Given the description of an element on the screen output the (x, y) to click on. 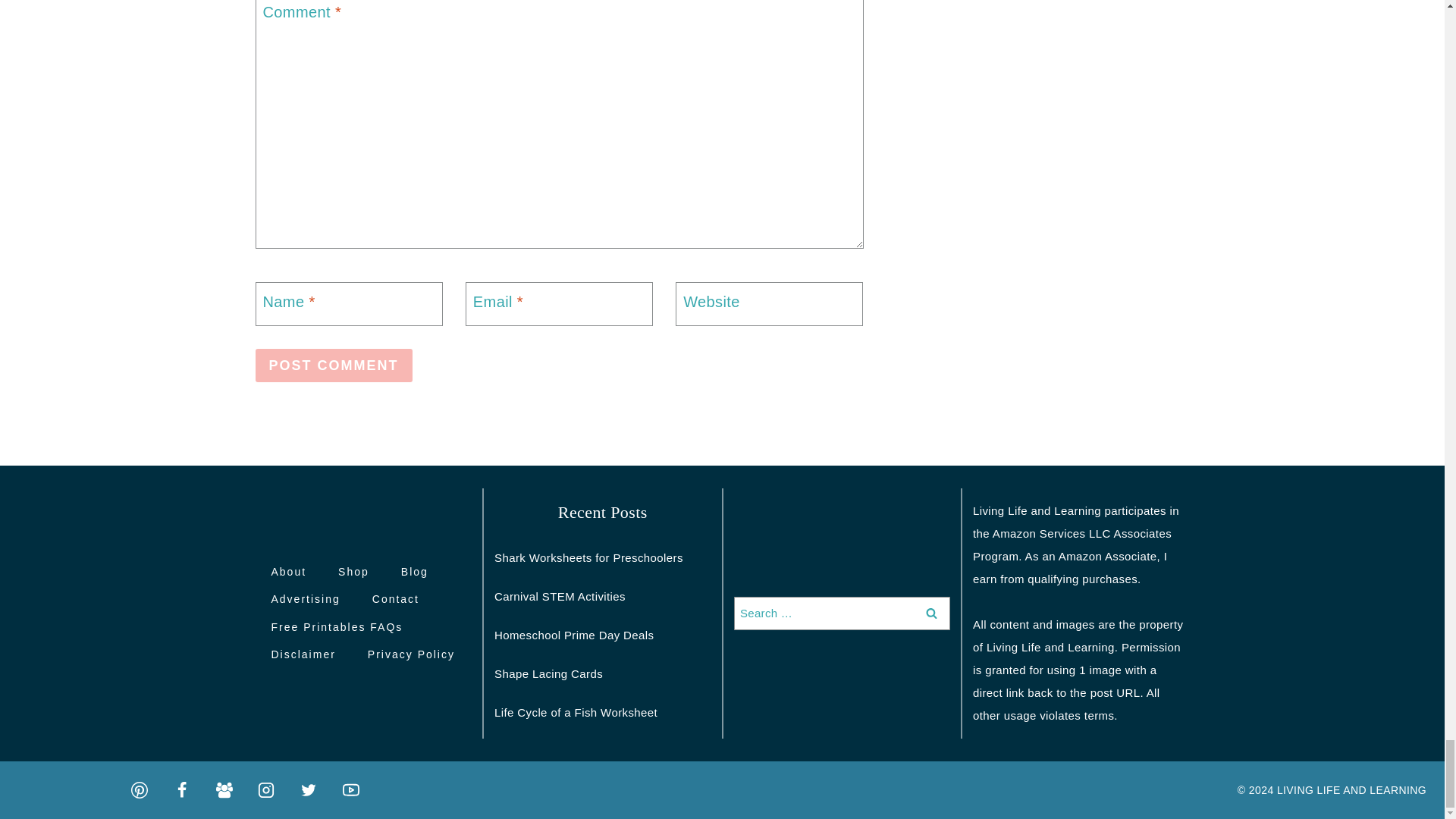
Search (931, 613)
Post Comment (333, 364)
Search (931, 613)
